Given the description of an element on the screen output the (x, y) to click on. 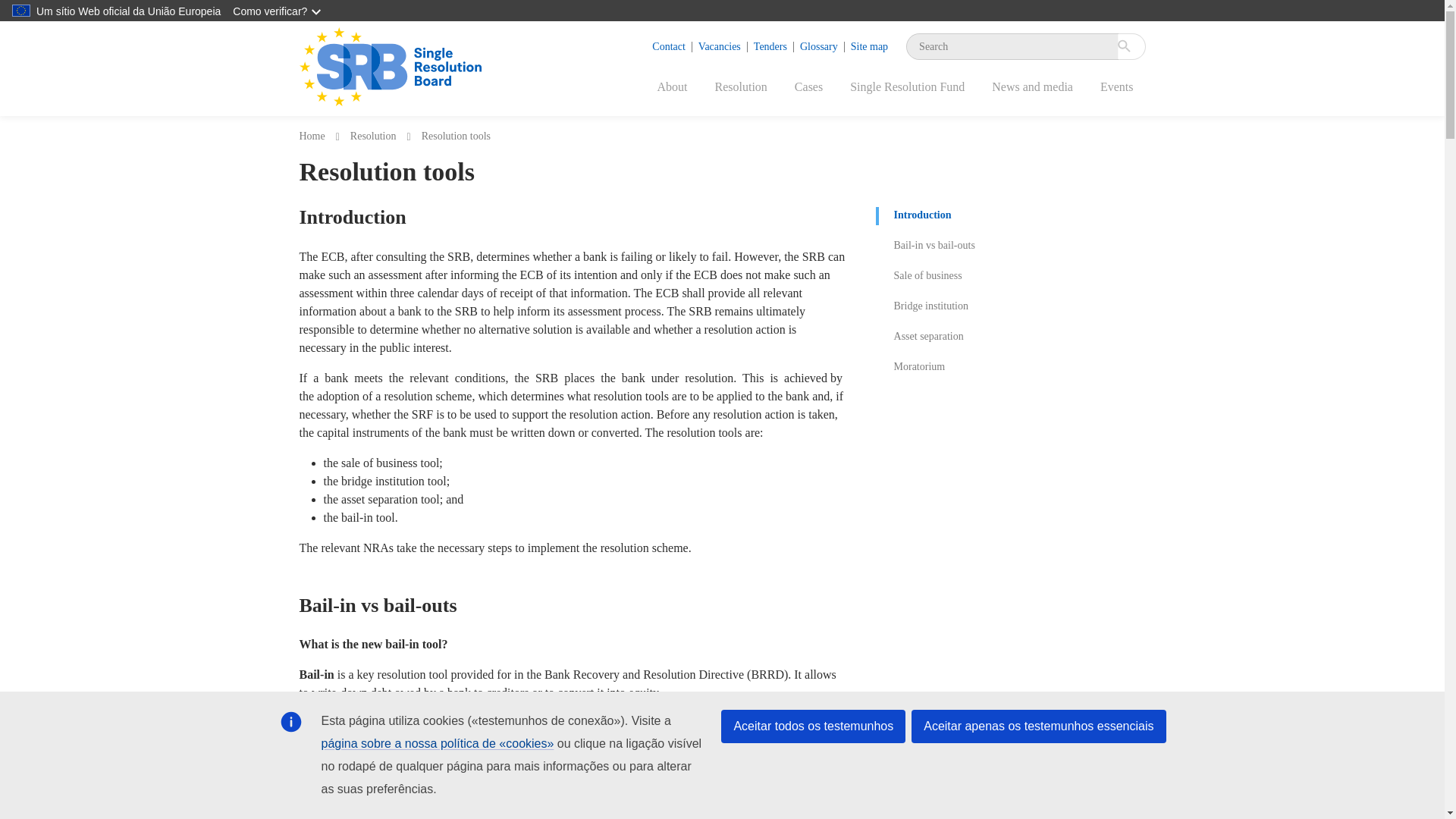
Como verificar? (278, 10)
Search (1131, 46)
Glossary (818, 45)
Search (1131, 46)
Aceitar apenas os testemunhos essenciais (1038, 726)
Search (1112, 345)
About (672, 93)
Contact (669, 45)
Site map (868, 45)
Aceitar todos os testemunhos (812, 726)
Tenders (770, 45)
Vacancies (720, 45)
